Given the description of an element on the screen output the (x, y) to click on. 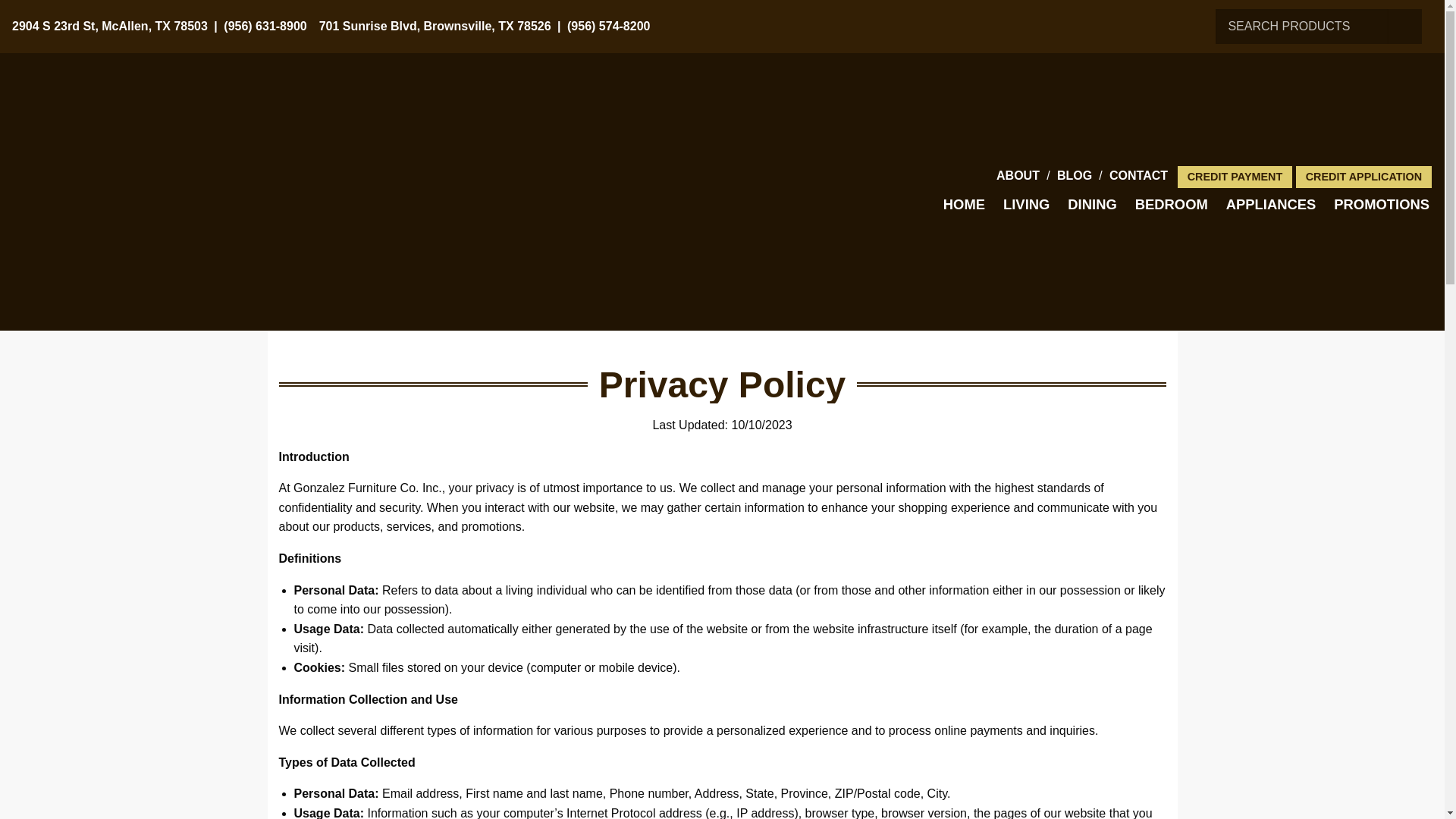
2904 S 23rd St, McAllen, TX 78503 (109, 27)
701 Sunrise Blvd, Brownsville, TX 78526 (434, 27)
